Given the description of an element on the screen output the (x, y) to click on. 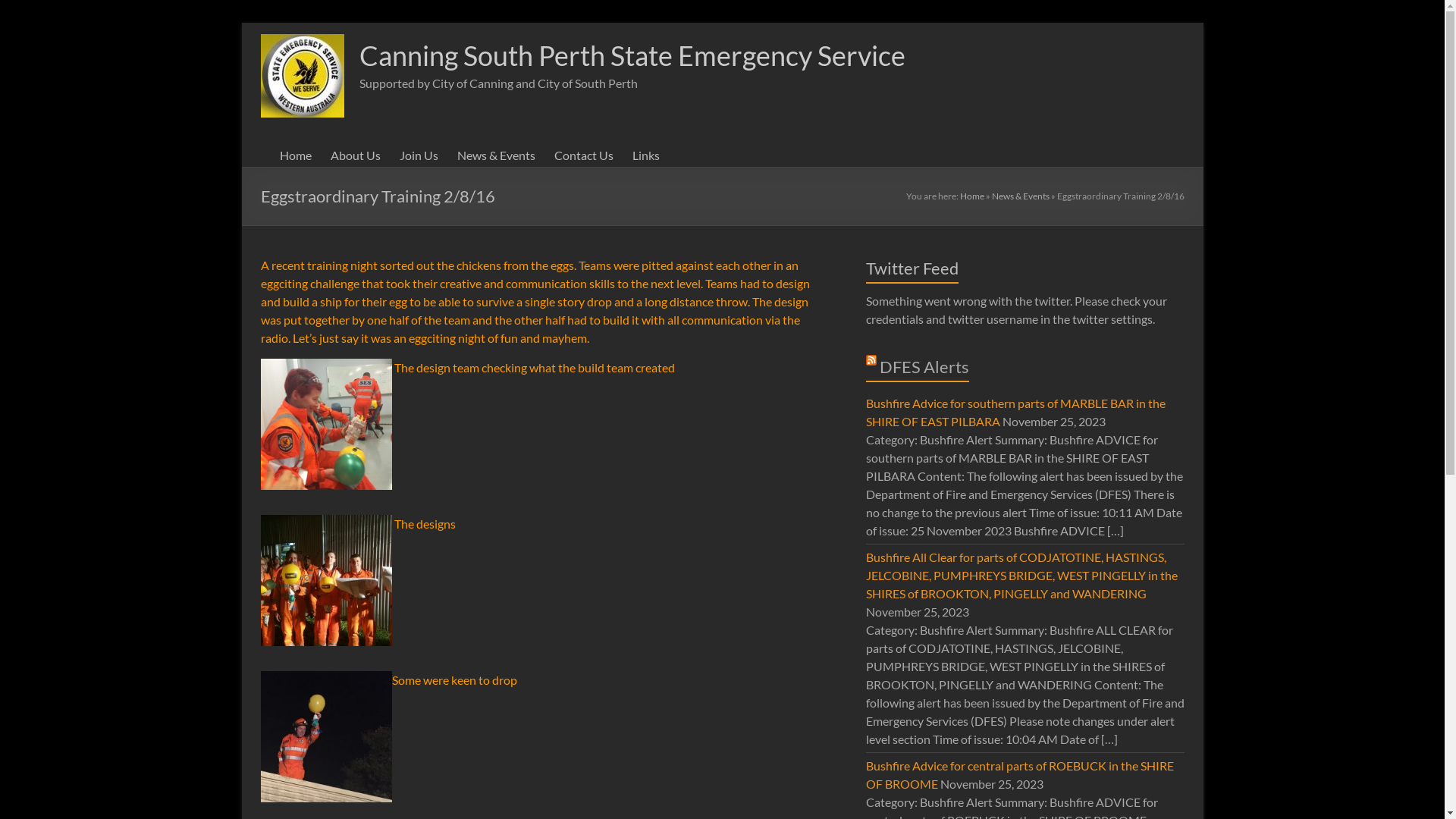
Join Us Element type: text (417, 155)
News & Events Element type: text (495, 155)
Home Element type: text (972, 195)
Home Element type: text (294, 155)
DFES Alerts Element type: text (924, 366)
Links Element type: text (645, 155)
Canning South Perth State Emergency Service Element type: text (632, 55)
News & Events Element type: text (1020, 195)
Contact Us Element type: text (582, 155)
Skip to content Element type: text (241, 21)
About Us Element type: text (355, 155)
